Given the description of an element on the screen output the (x, y) to click on. 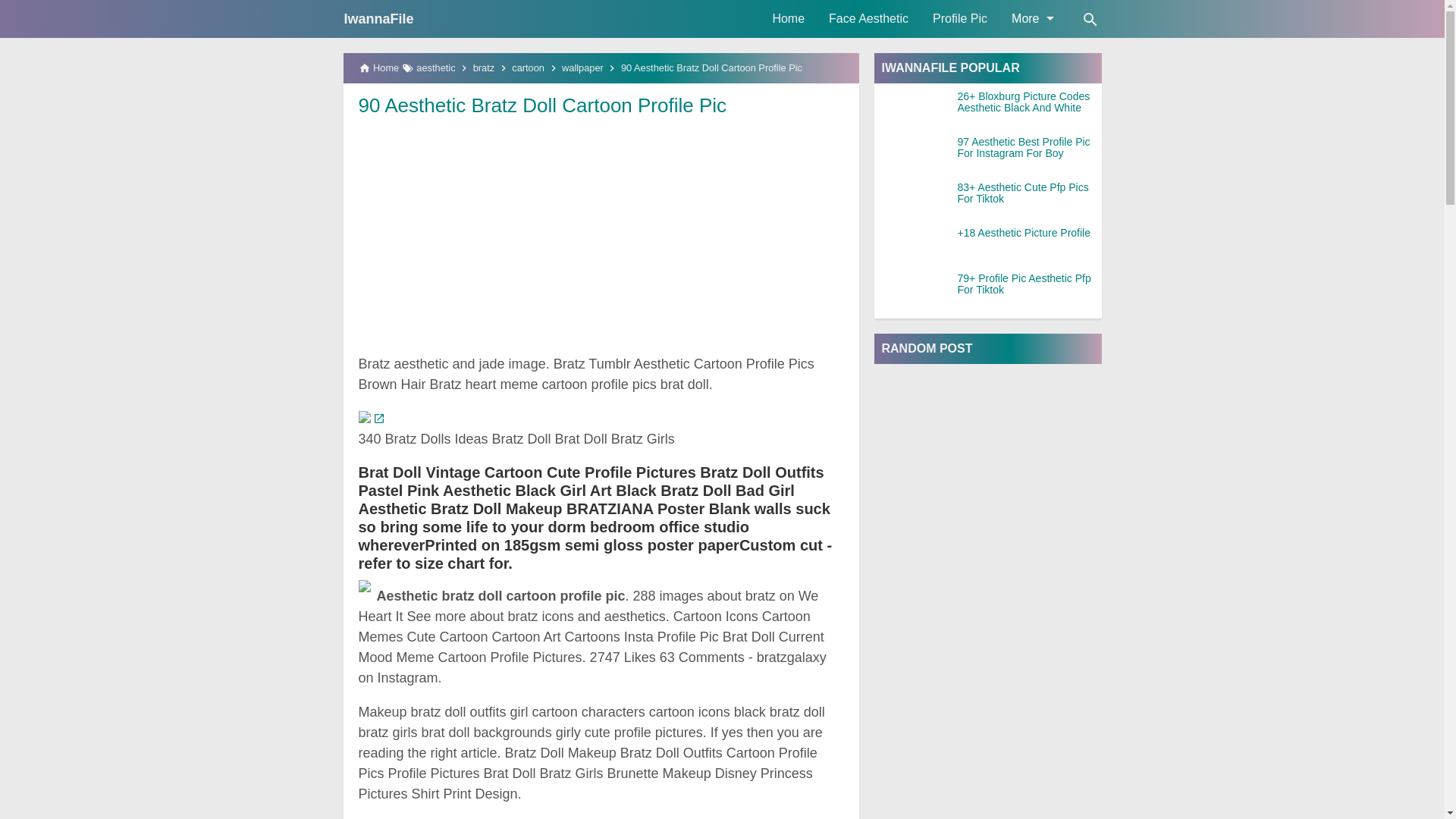
aesthetic (435, 68)
Profile Pic (959, 18)
More (1030, 18)
97 Aesthetic Best Profile Pic For Instagram For Boy (1028, 147)
IwannaFile (378, 18)
wallpaper (583, 68)
90 Aesthetic Bratz Doll Cartoon Profile Pic (542, 105)
Face Aesthetic (868, 18)
aesthetic (435, 68)
wallpaper (583, 68)
Home (788, 18)
Home (788, 18)
Face Aesthetic (868, 18)
Profile Pic (959, 18)
cartoon (528, 68)
